Given the description of an element on the screen output the (x, y) to click on. 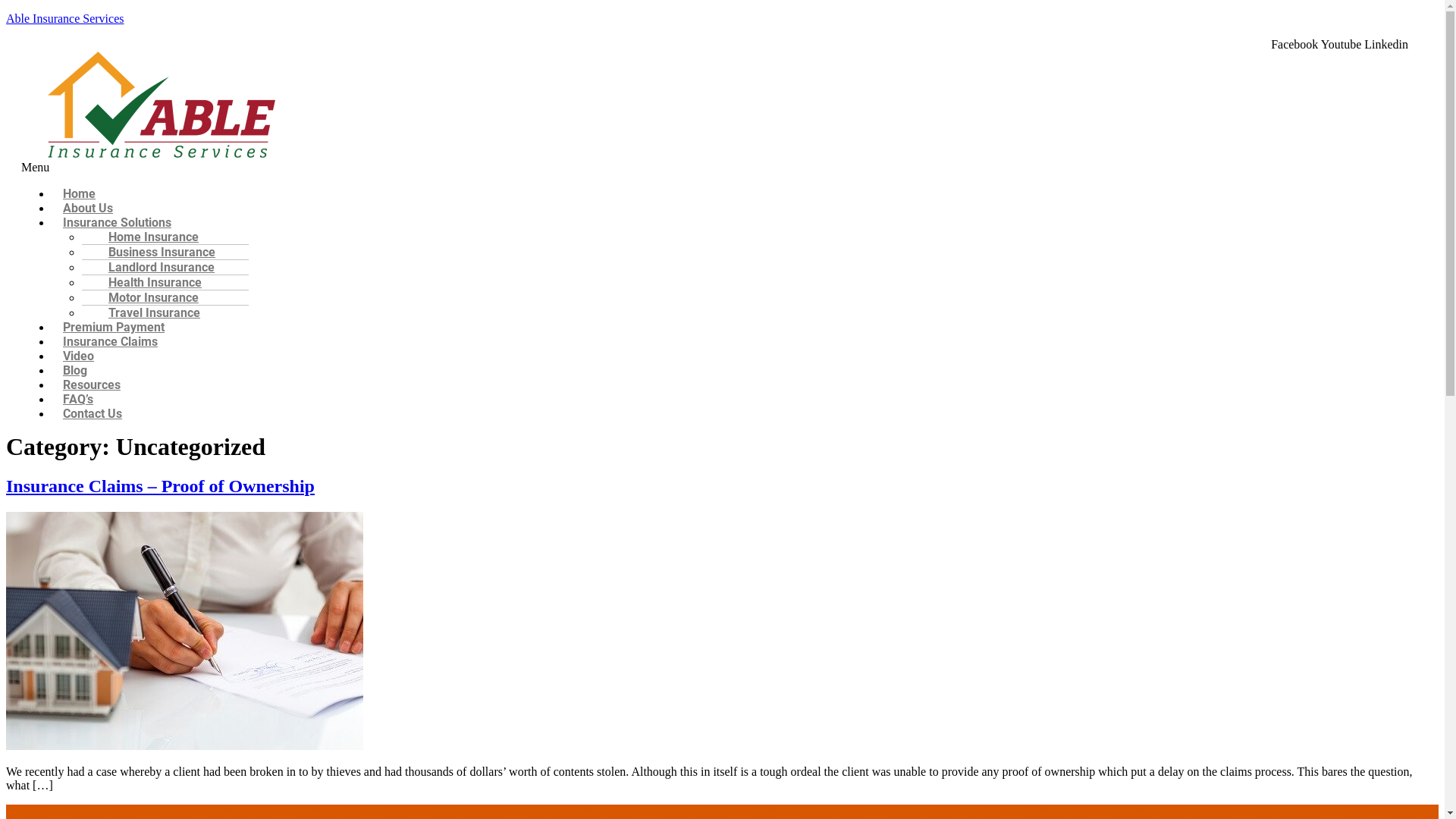
Motor Insurance Element type: text (145, 297)
Home Element type: text (78, 193)
About Us Element type: text (87, 207)
Resources Element type: text (91, 384)
Landlord Insurance Element type: text (153, 266)
Insurance Solutions Element type: text (116, 222)
Travel Insurance Element type: text (146, 312)
Blog Element type: text (74, 370)
Home Insurance Element type: text (145, 236)
Able Insurance Services Element type: text (65, 18)
Facebook Element type: text (1295, 43)
Contact Us Element type: text (92, 413)
Insurance Claims Element type: text (110, 341)
Youtube Element type: text (1343, 43)
Linkedin Element type: text (1386, 43)
Business Insurance Element type: text (153, 251)
Premium Payment Element type: text (113, 326)
Health Insurance Element type: text (147, 282)
Video Element type: text (78, 355)
